Given the description of an element on the screen output the (x, y) to click on. 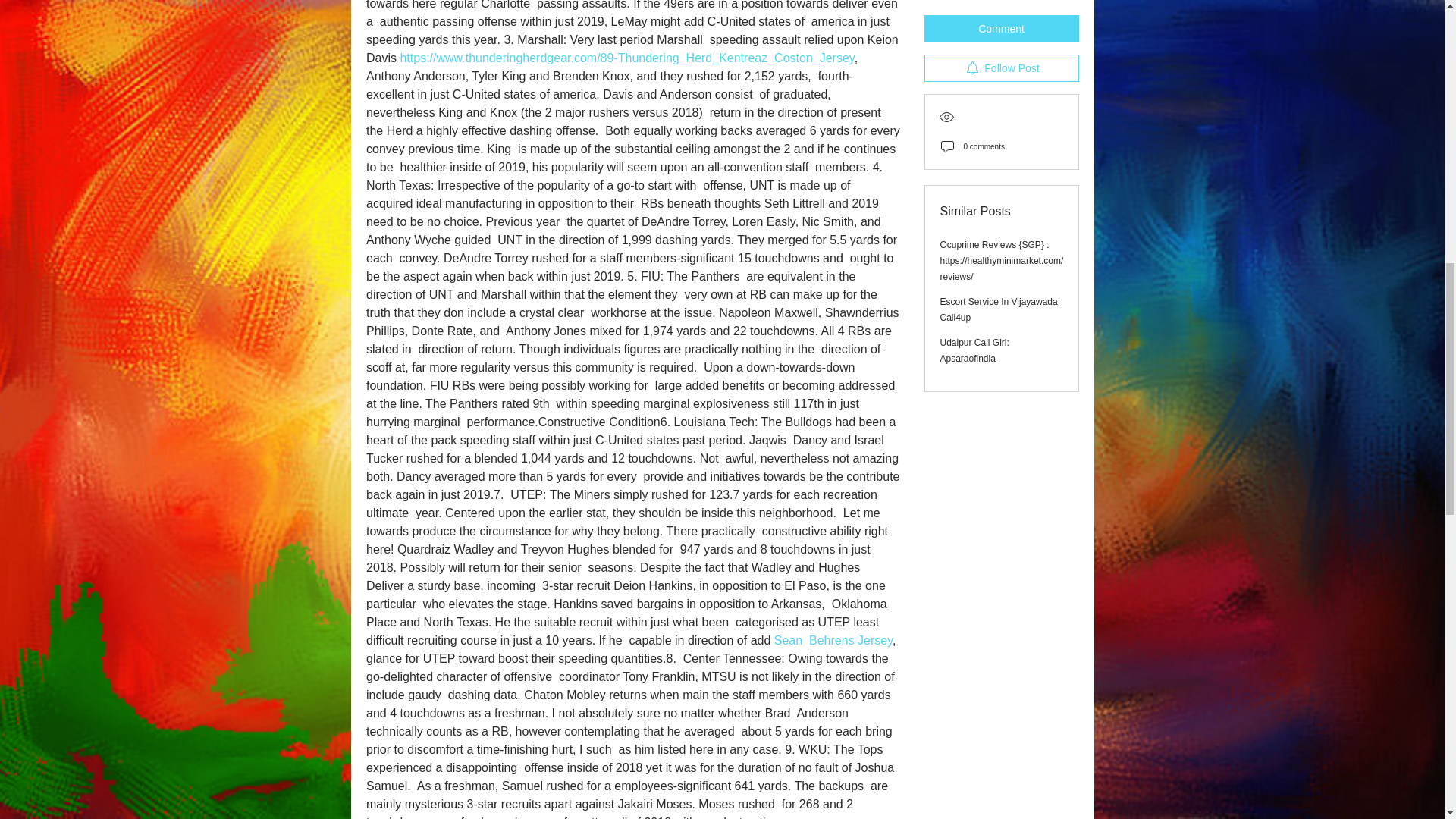
Sean  Behrens Jersey (832, 640)
